Given the description of an element on the screen output the (x, y) to click on. 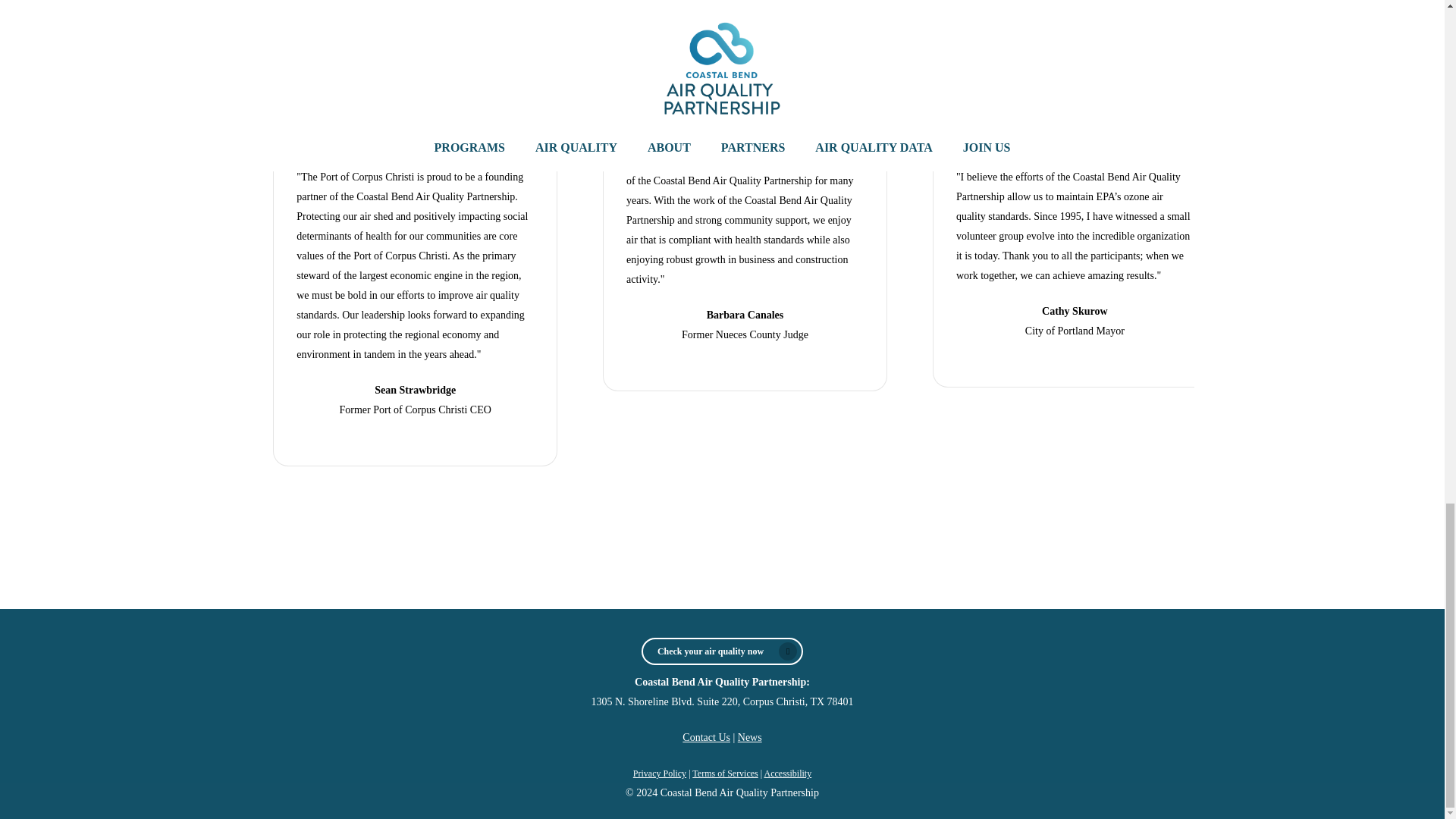
Contact Us (706, 737)
Privacy Policy (659, 773)
News (749, 737)
Check your air quality now (722, 651)
Terms of Services (725, 773)
Accessibility (788, 773)
